Given the description of an element on the screen output the (x, y) to click on. 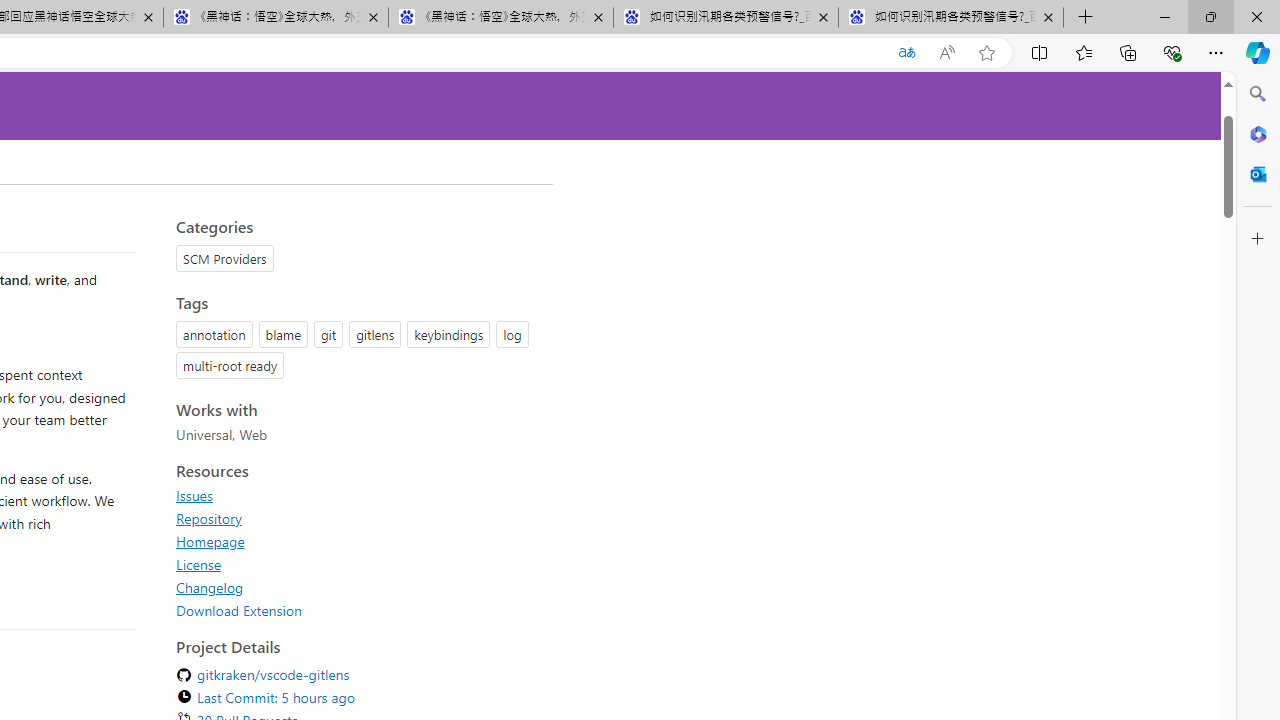
Changelog (358, 587)
Download Extension (239, 610)
Homepage (358, 541)
Repository (208, 518)
